Given the description of an element on the screen output the (x, y) to click on. 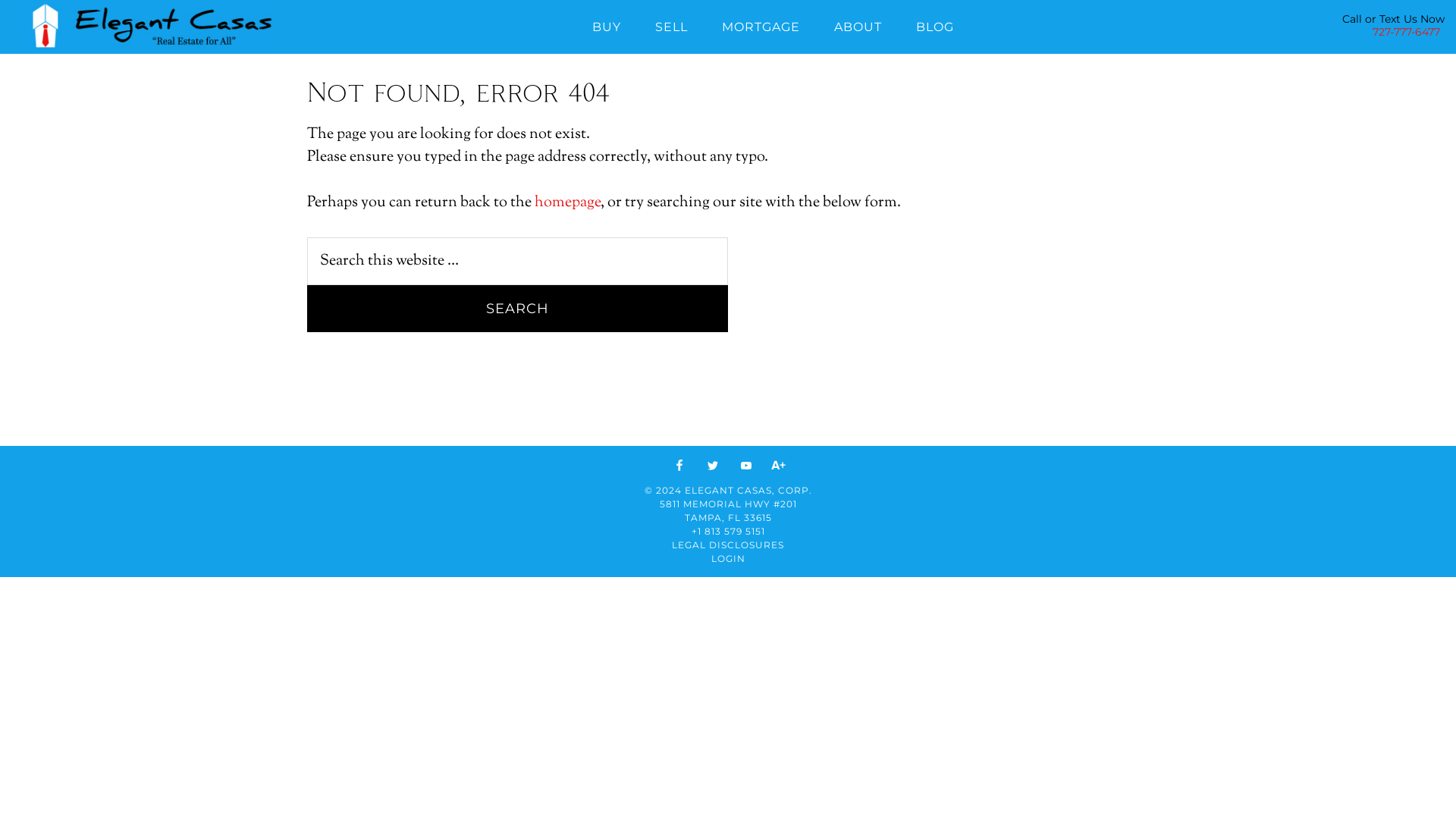
727-777-6477 Element type: text (1406, 31)
ELEGANT CASAS - FULL-SERVICE REAL ESTATE BROKERAGE Element type: text (147, 25)
homepage Element type: text (567, 202)
LEGAL DISCLOSURES Element type: text (727, 544)
SELL Element type: text (671, 24)
BUY Element type: text (606, 24)
+1 813 579 5151 Element type: text (728, 530)
ABOUT Element type: text (858, 24)
LOGIN Element type: text (728, 558)
MORTGAGE Element type: text (760, 24)
BLOG Element type: text (934, 24)
Search Element type: text (517, 308)
